Given the description of an element on the screen output the (x, y) to click on. 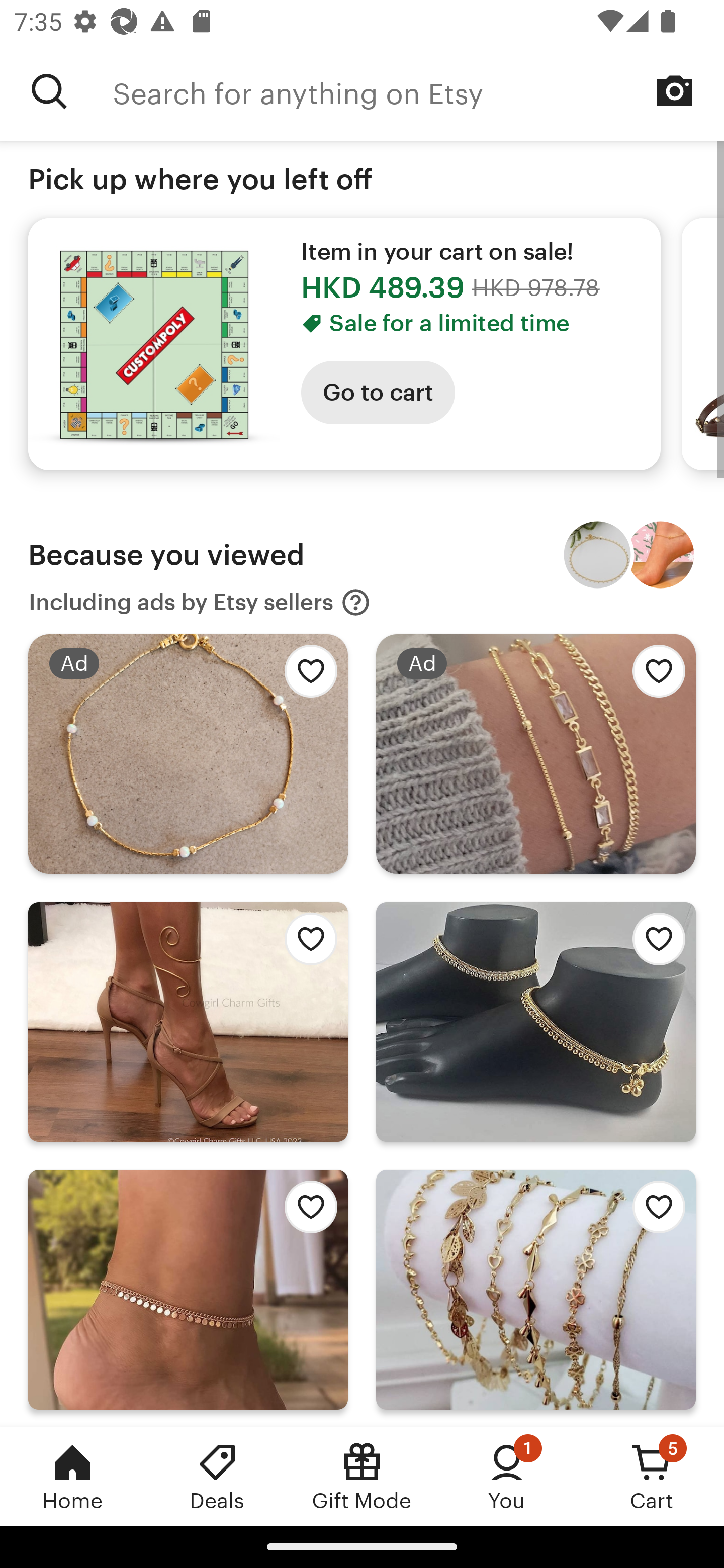
Search for anything on Etsy (49, 91)
Search by image (674, 90)
Search for anything on Etsy (418, 91)
Including ads by Etsy sellers (199, 601)
Deals (216, 1475)
Gift Mode (361, 1475)
You, 1 new notification You (506, 1475)
Cart, 5 new notifications Cart (651, 1475)
